Given the description of an element on the screen output the (x, y) to click on. 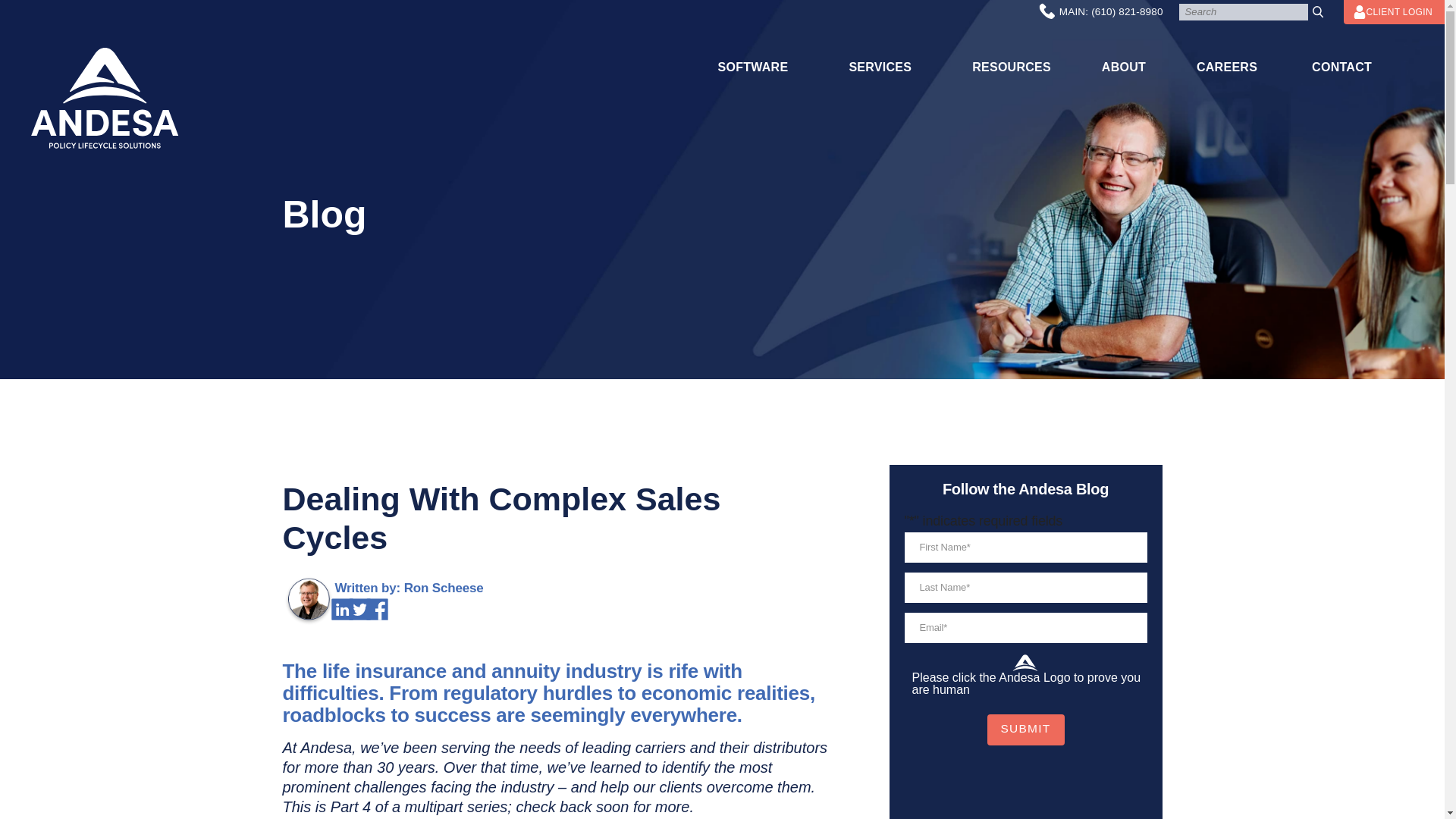
SERVICES (879, 67)
ABOUT (1123, 67)
CAREERS (1226, 67)
Submit (1025, 730)
SOFTWARE (752, 67)
RESOURCES (1011, 67)
CONTACT (1341, 67)
